Given the description of an element on the screen output the (x, y) to click on. 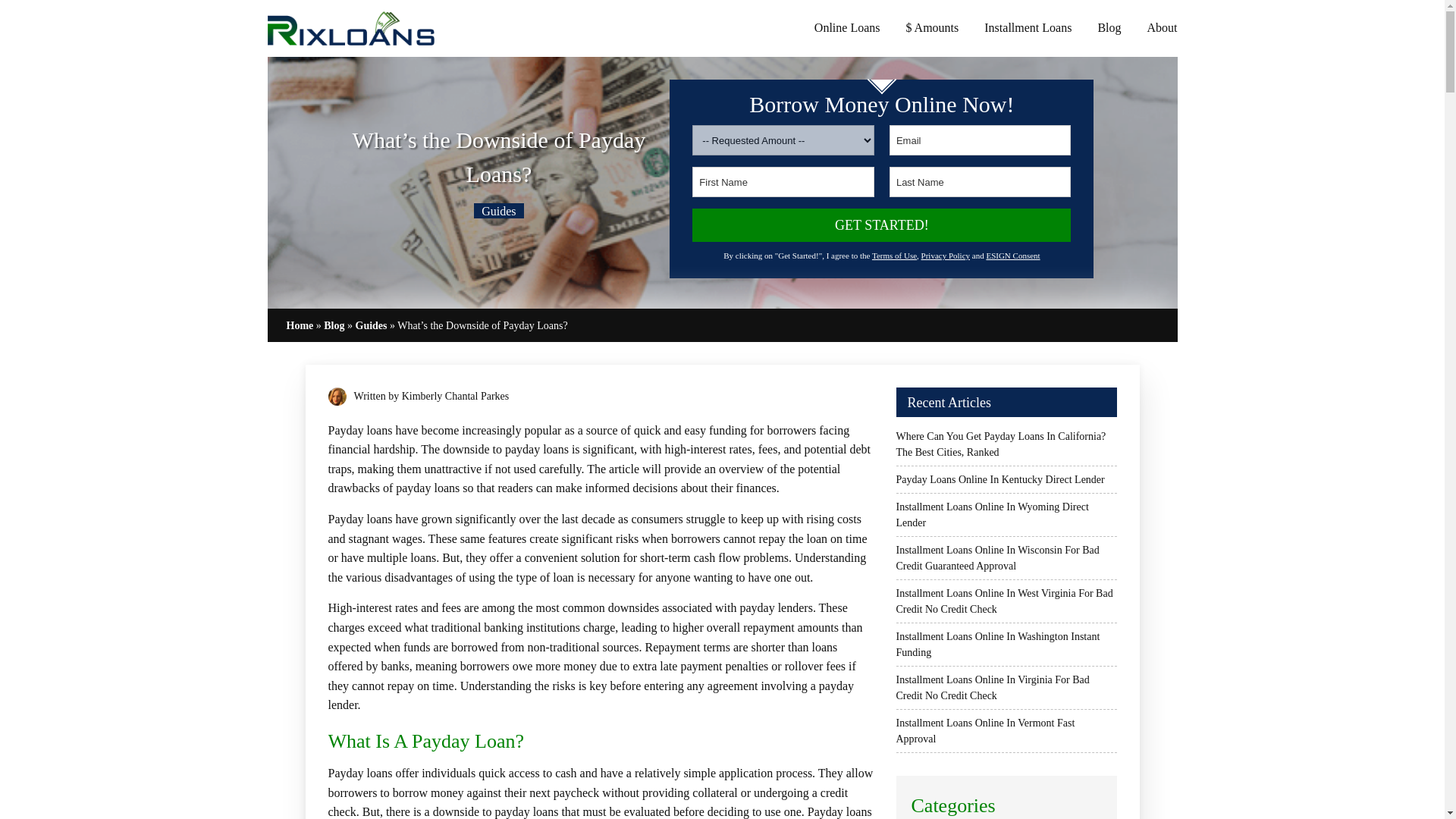
Go to the Guides category archives. (371, 325)
Get Started! (881, 224)
Online Loans (846, 27)
Installment Loans (1027, 27)
Guides (498, 210)
Go to Blog. (333, 325)
